Given the description of an element on the screen output the (x, y) to click on. 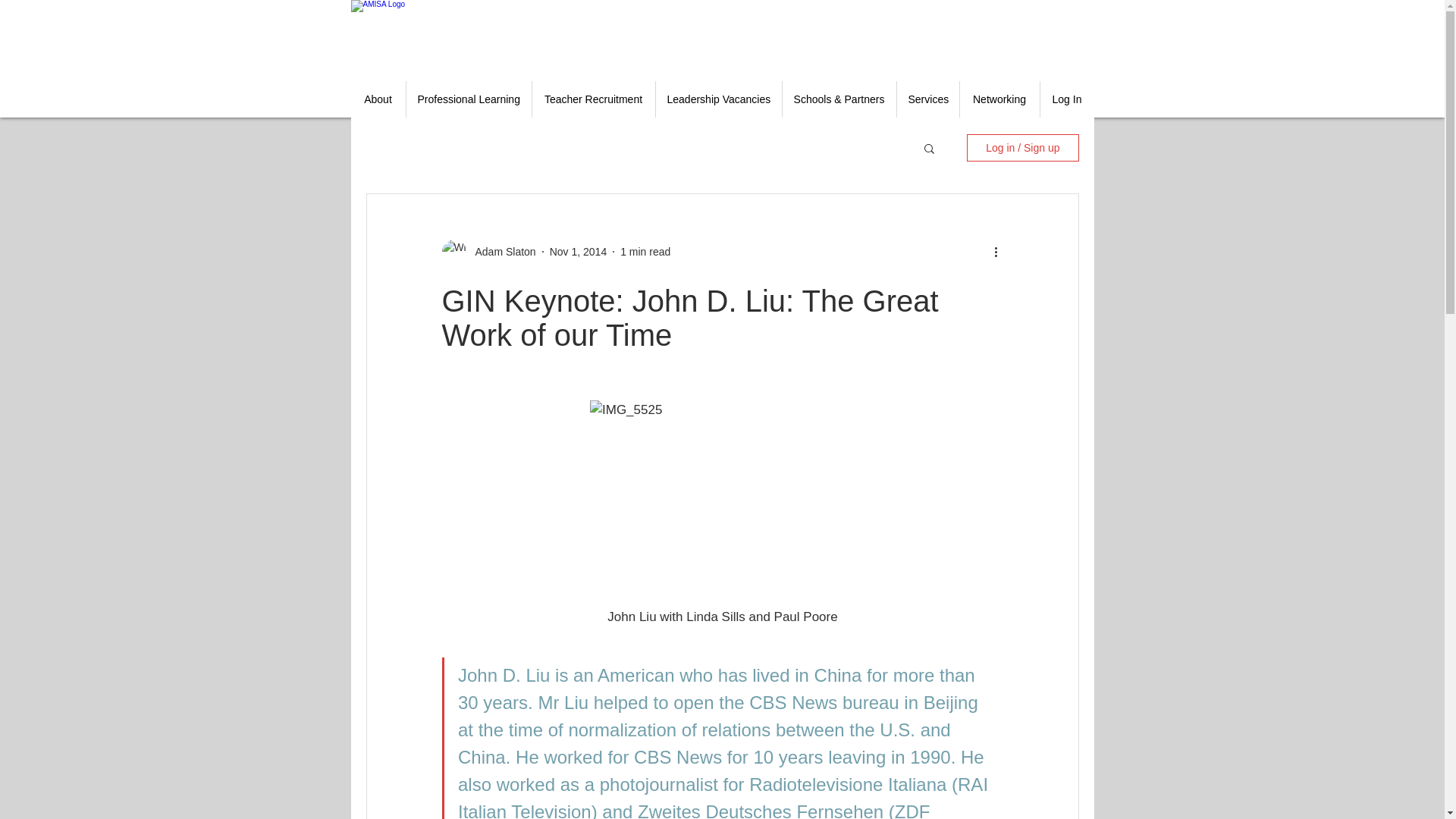
1 min read (644, 251)
AMISA-logo-transparent.png (433, 35)
Adam Slaton (500, 252)
Nov 1, 2014 (578, 251)
